Given the description of an element on the screen output the (x, y) to click on. 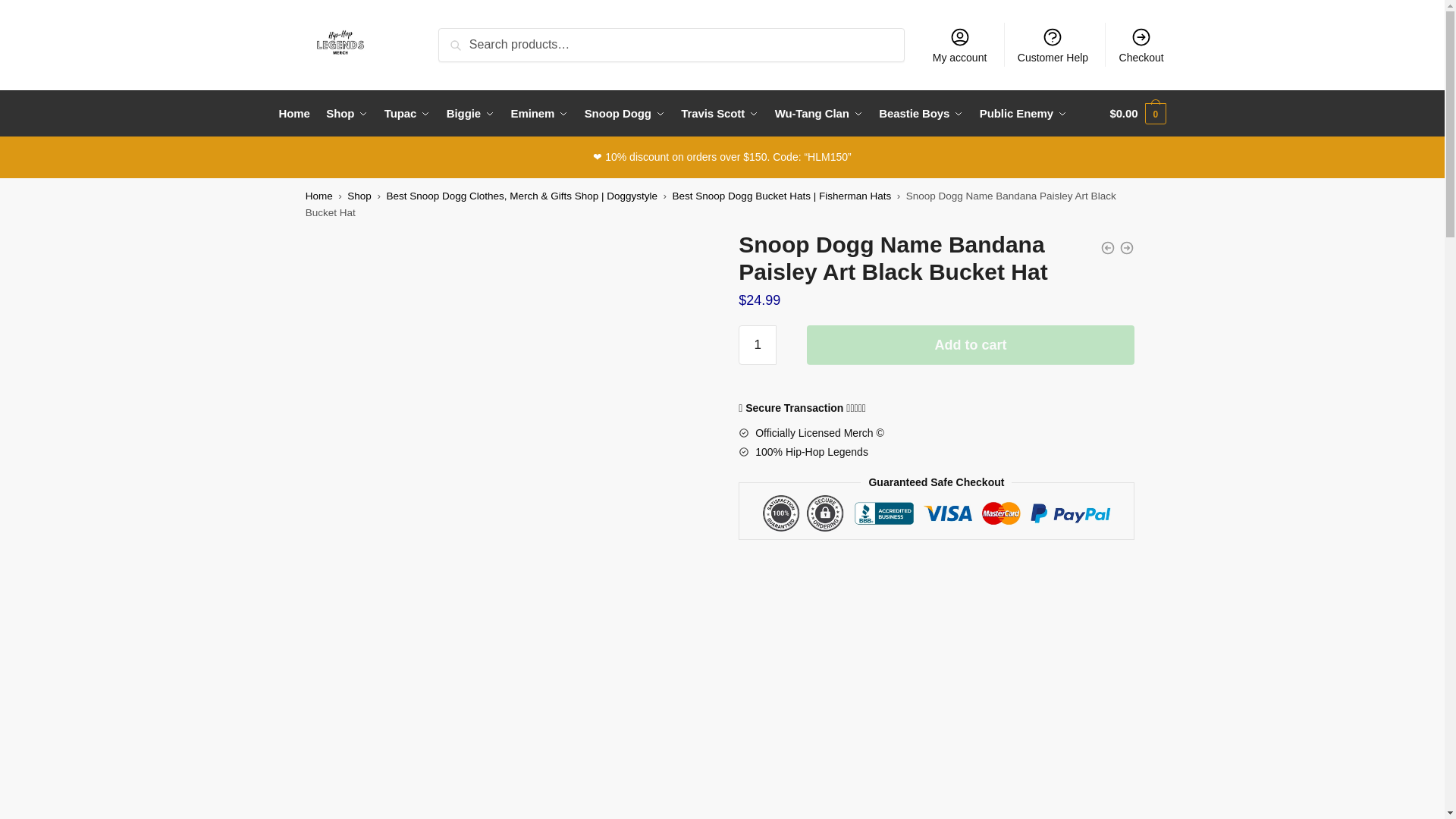
My account (959, 44)
Checkout (1141, 44)
1 (757, 344)
Shop (347, 113)
View your shopping cart (1137, 113)
Search (462, 38)
Customer Help (1053, 44)
Biggie (470, 113)
Tupac (407, 113)
